Given the description of an element on the screen output the (x, y) to click on. 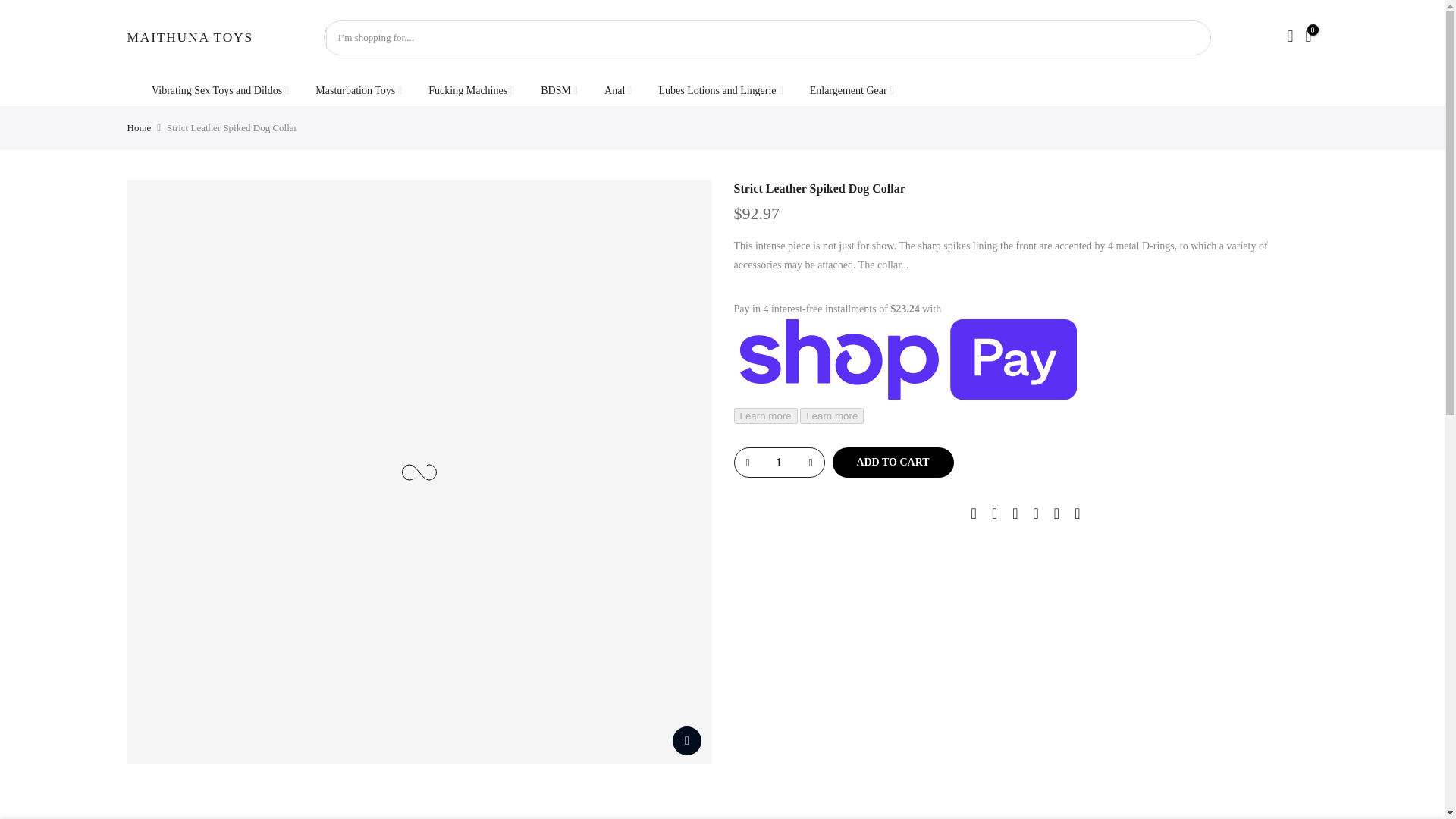
Fucking Machines (470, 91)
MAITHUNA TOYS (190, 38)
Enlargement Gear (851, 91)
Home (139, 128)
Lubes Lotions and Lingerie (720, 91)
Vibrating Sex Toys and Dildos (219, 91)
ADD TO CART (892, 462)
BDSM (559, 91)
Anal (618, 91)
1 (778, 461)
